Given the description of an element on the screen output the (x, y) to click on. 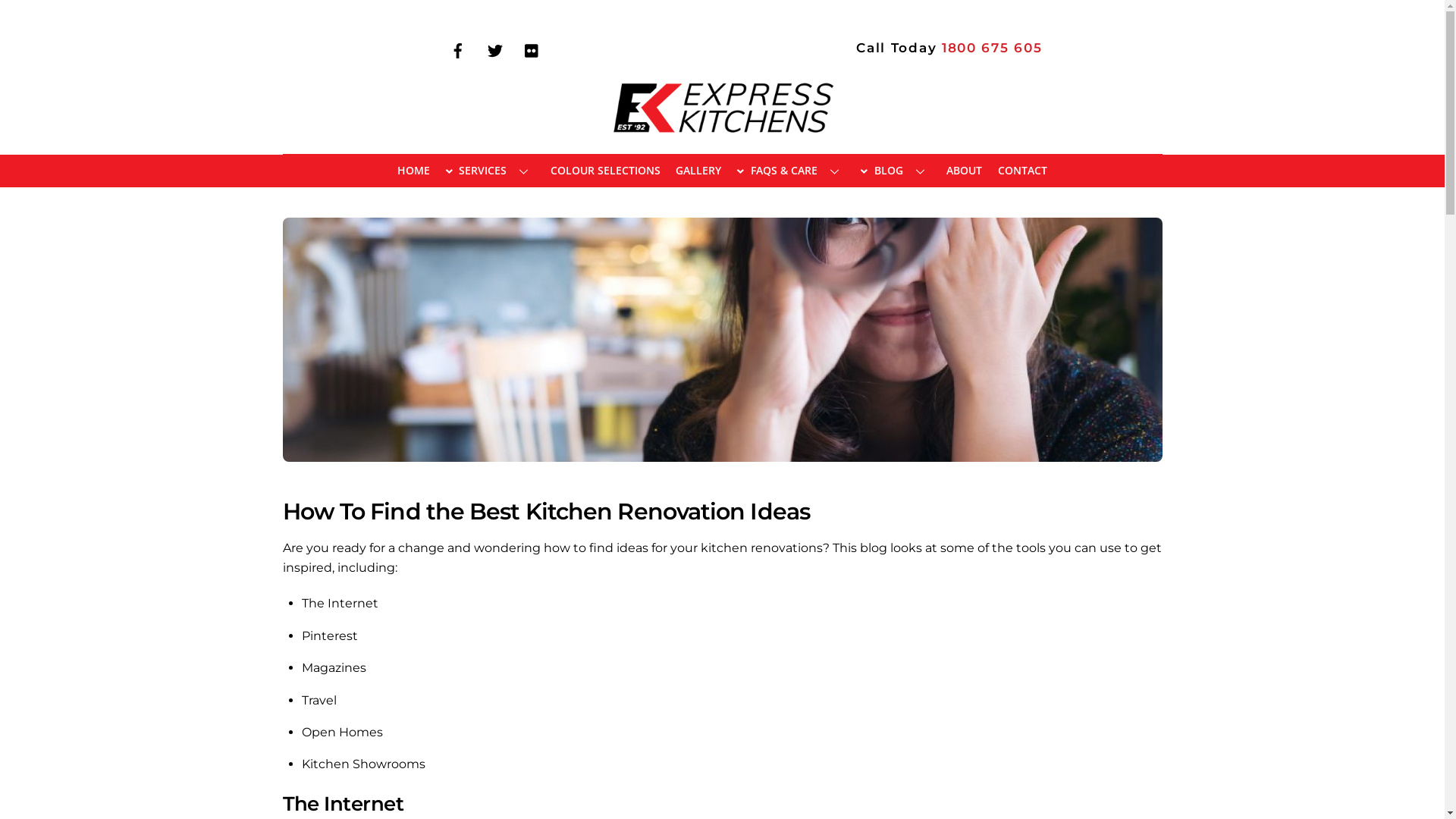
SERVICES Element type: text (489, 169)
GALLERY Element type: text (698, 169)
1800 675 605 Element type: text (991, 47)
EXPRESS KITCHENS Element type: hover (721, 132)
CONTACT Element type: text (1022, 169)
ABOUT Element type: text (964, 169)
BLOG Element type: text (895, 169)
COLOUR SELECTIONS Element type: text (604, 169)
FAQS & CARE Element type: text (791, 169)
HOME Element type: text (413, 169)
